Given the description of an element on the screen output the (x, y) to click on. 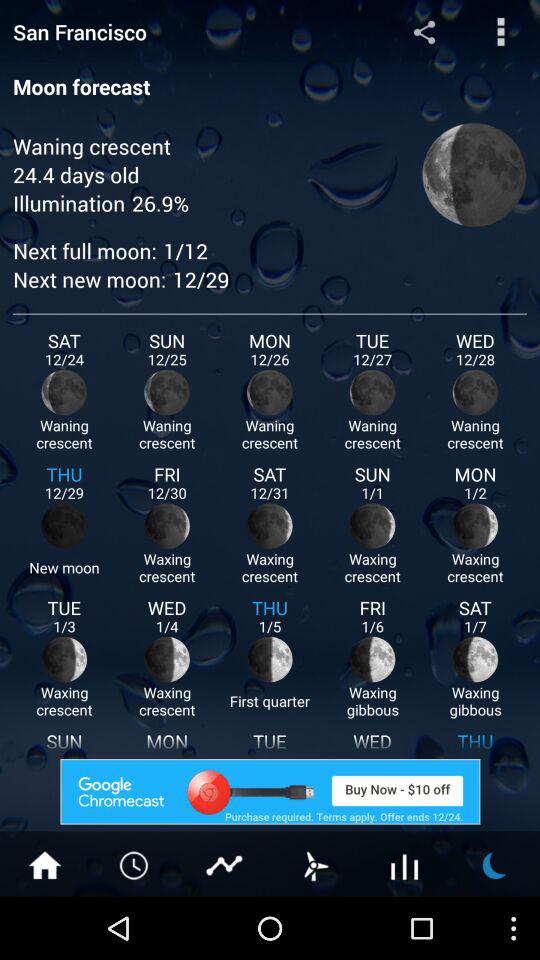
more option (500, 31)
